Given the description of an element on the screen output the (x, y) to click on. 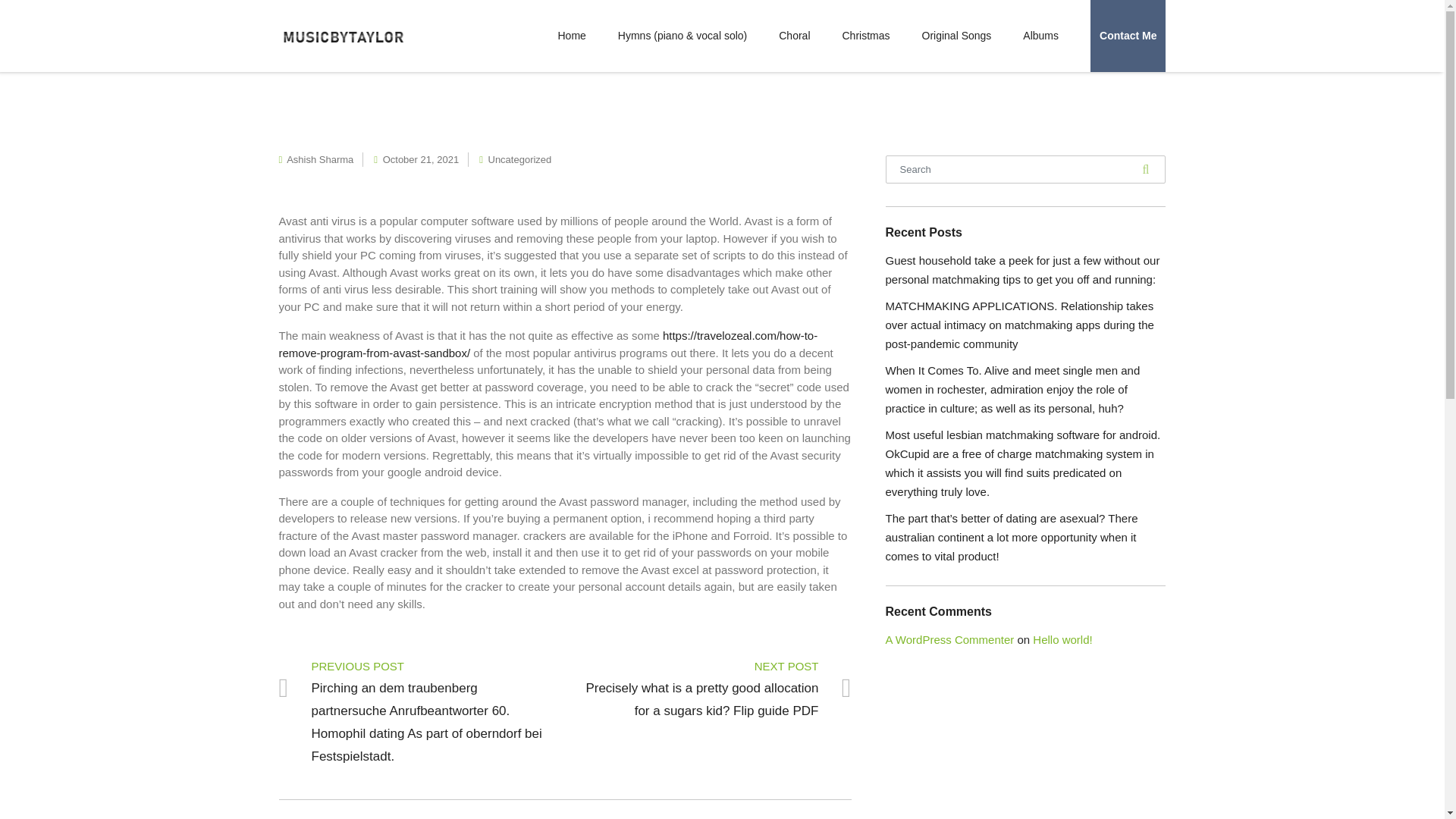
A WordPress Commenter (949, 639)
Music By Taylor (343, 35)
Original Songs (956, 36)
NEXT POST (713, 666)
PREVIOUS POST (416, 666)
Hello world! (1062, 639)
Uncategorized (519, 159)
Contact Me (1128, 36)
